Given the description of an element on the screen output the (x, y) to click on. 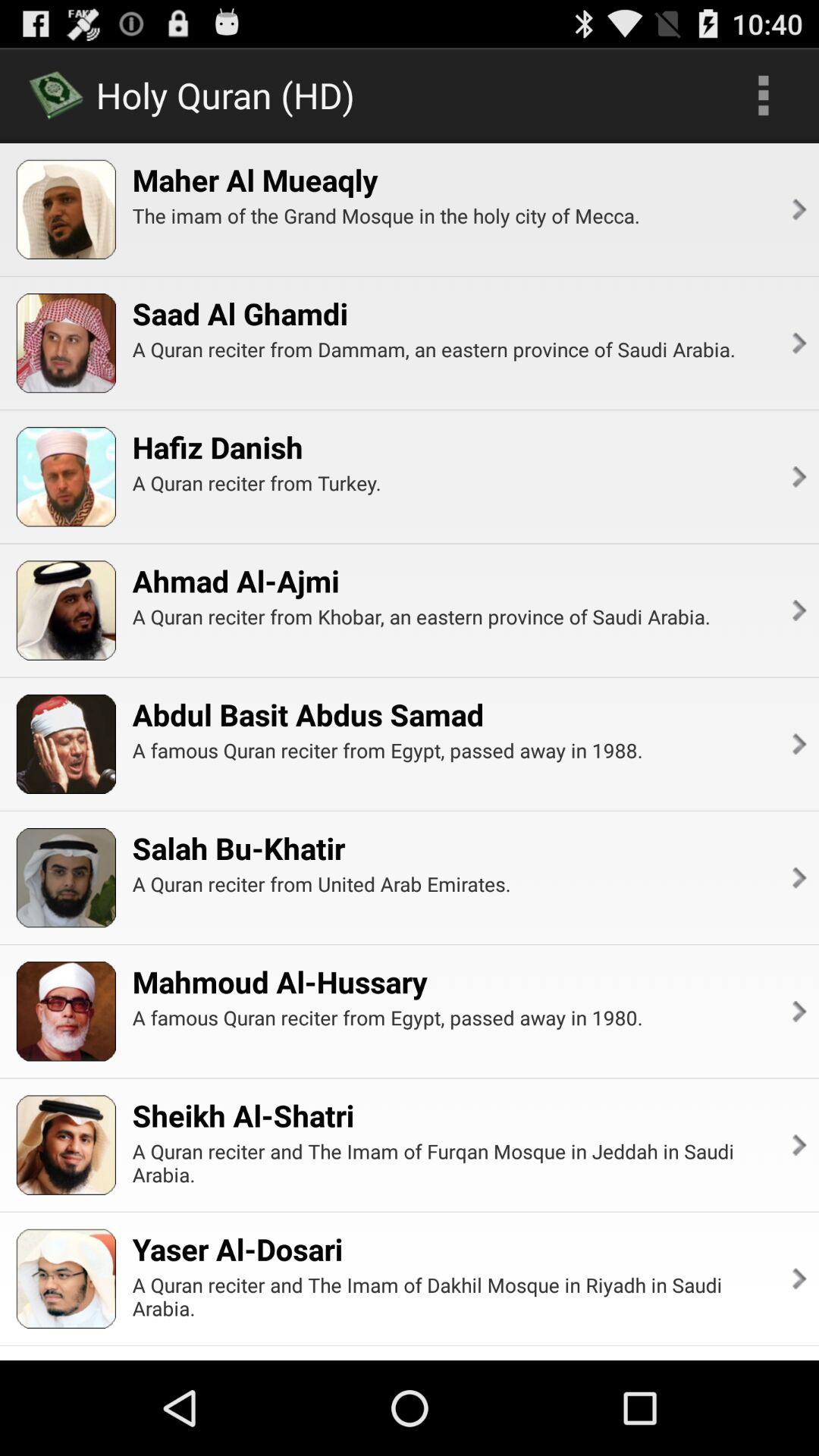
launch item above the a quran reciter app (235, 580)
